Given the description of an element on the screen output the (x, y) to click on. 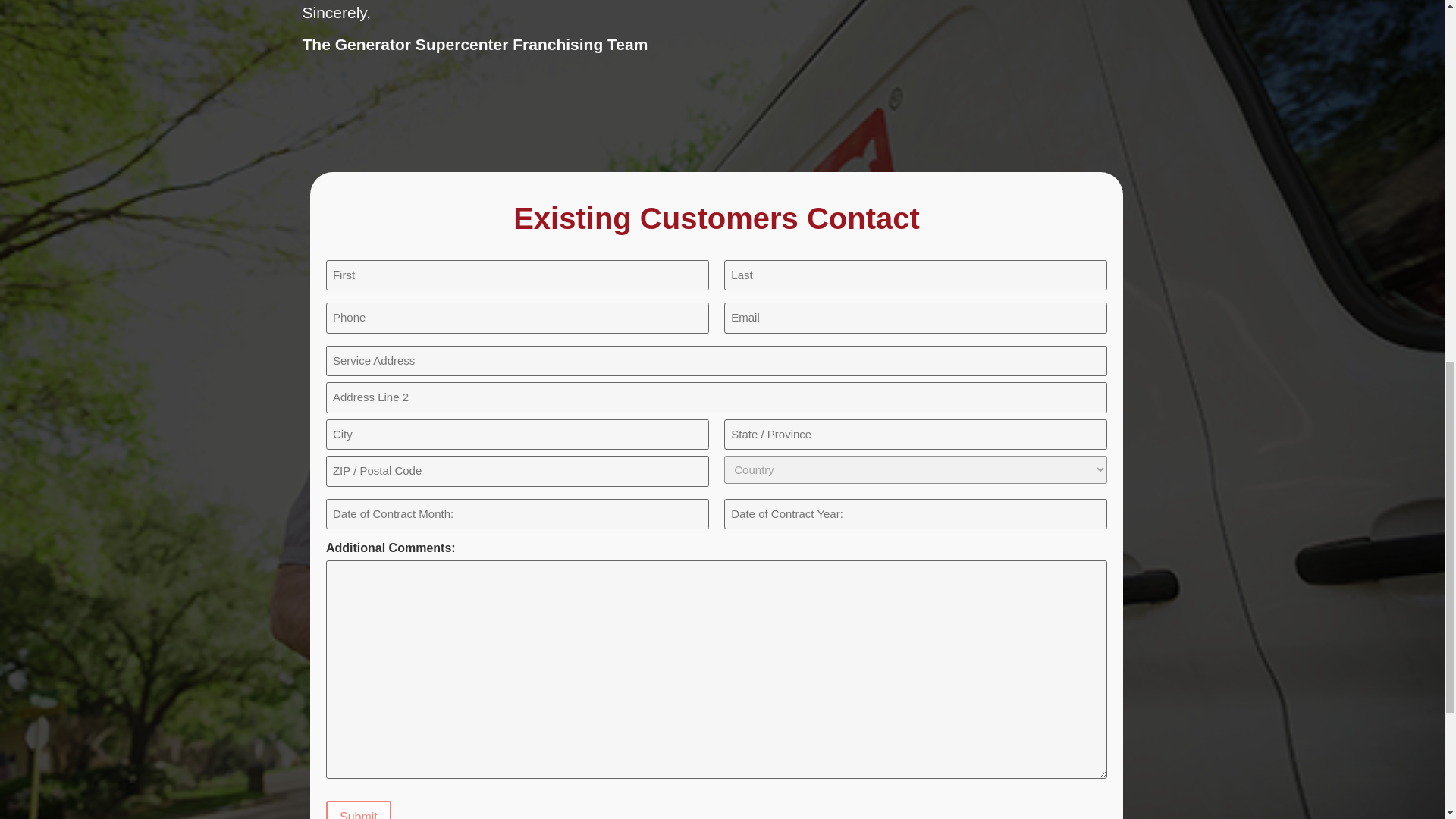
Submit (358, 809)
Submit (358, 809)
